Given the description of an element on the screen output the (x, y) to click on. 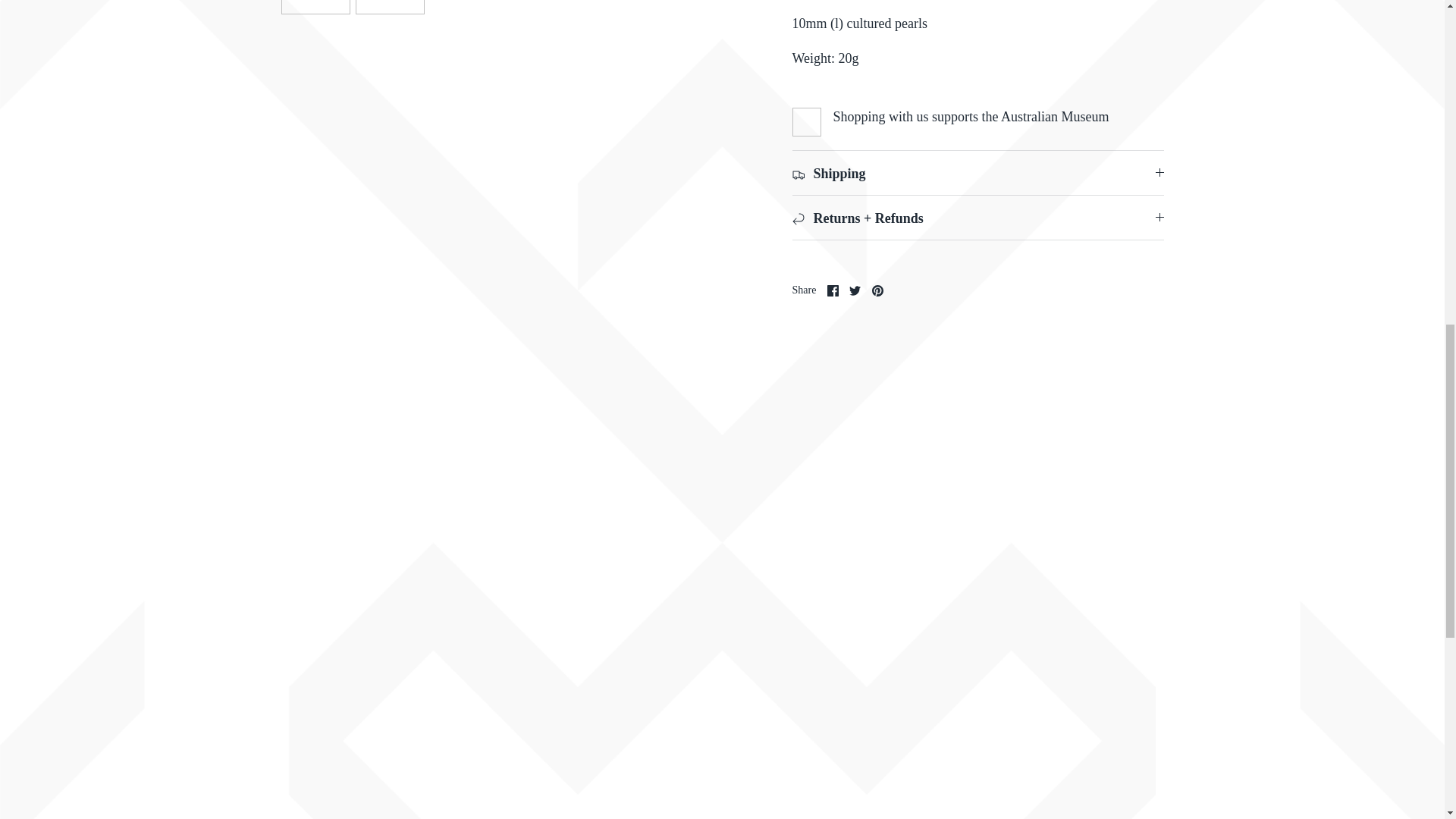
Facebook (832, 290)
Twitter (854, 290)
Pinterest (877, 290)
